Given the description of an element on the screen output the (x, y) to click on. 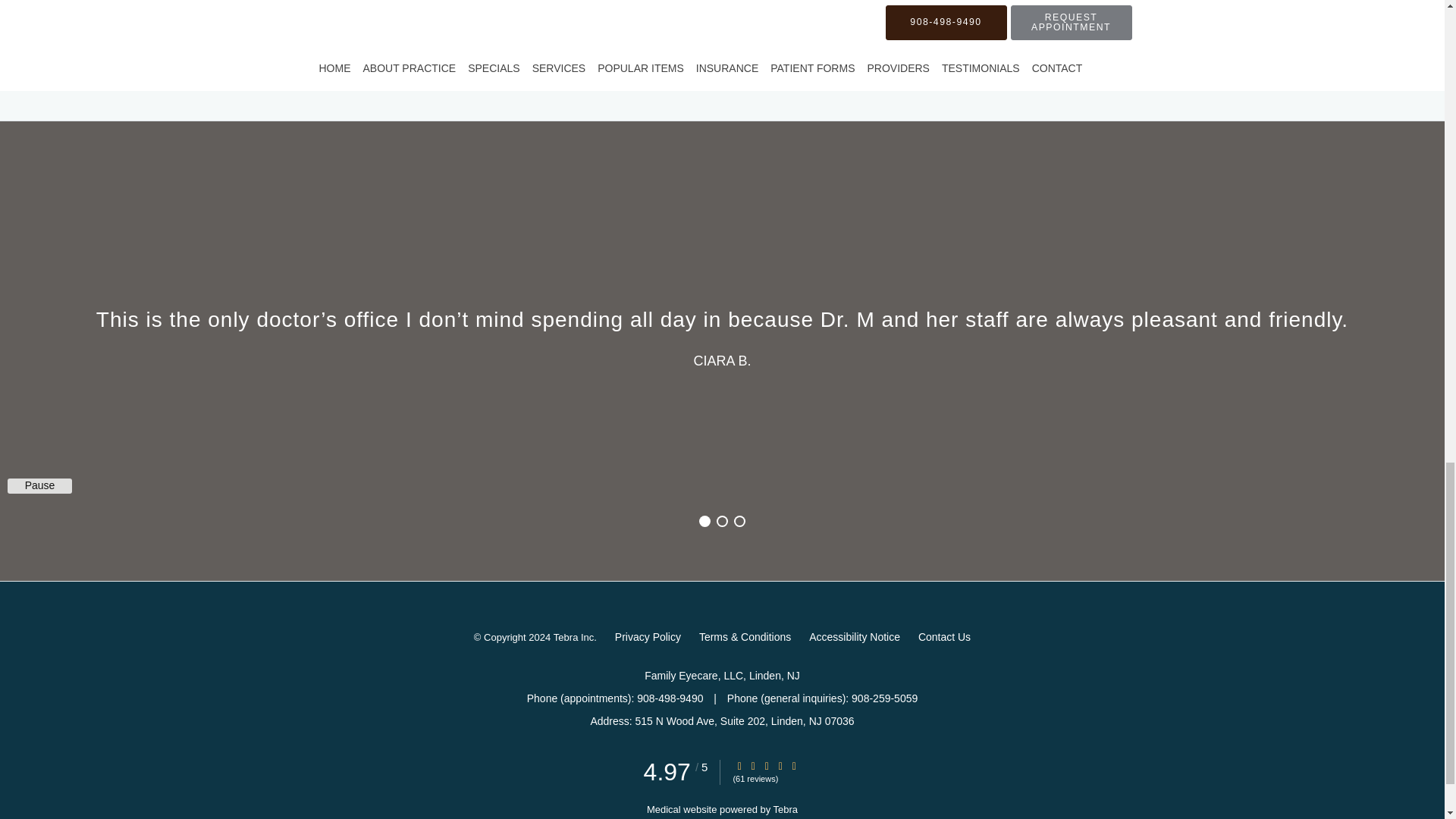
3 (739, 520)
Star Rating (794, 766)
1 (704, 520)
Star Rating (766, 766)
Star Rating (753, 766)
2 (721, 520)
Star Rating (738, 766)
SEND (752, 55)
Star Rating (780, 766)
